Given the description of an element on the screen output the (x, y) to click on. 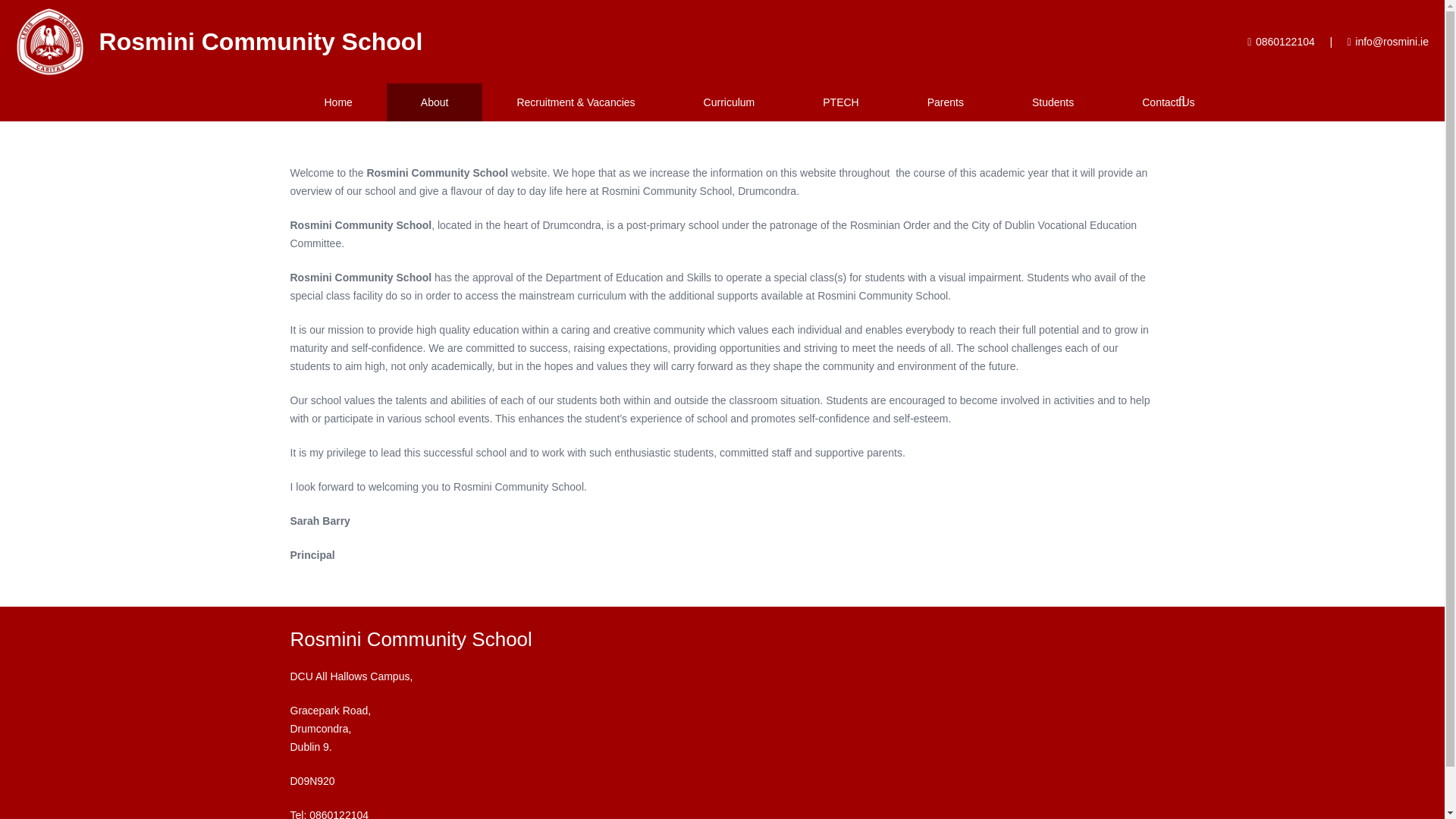
Students (1052, 102)
Curriculum (729, 102)
Rosmini Community School (261, 41)
Home (337, 102)
PTECH (840, 102)
About (435, 102)
Parents (945, 102)
Contact Us (1168, 102)
